Given the description of an element on the screen output the (x, y) to click on. 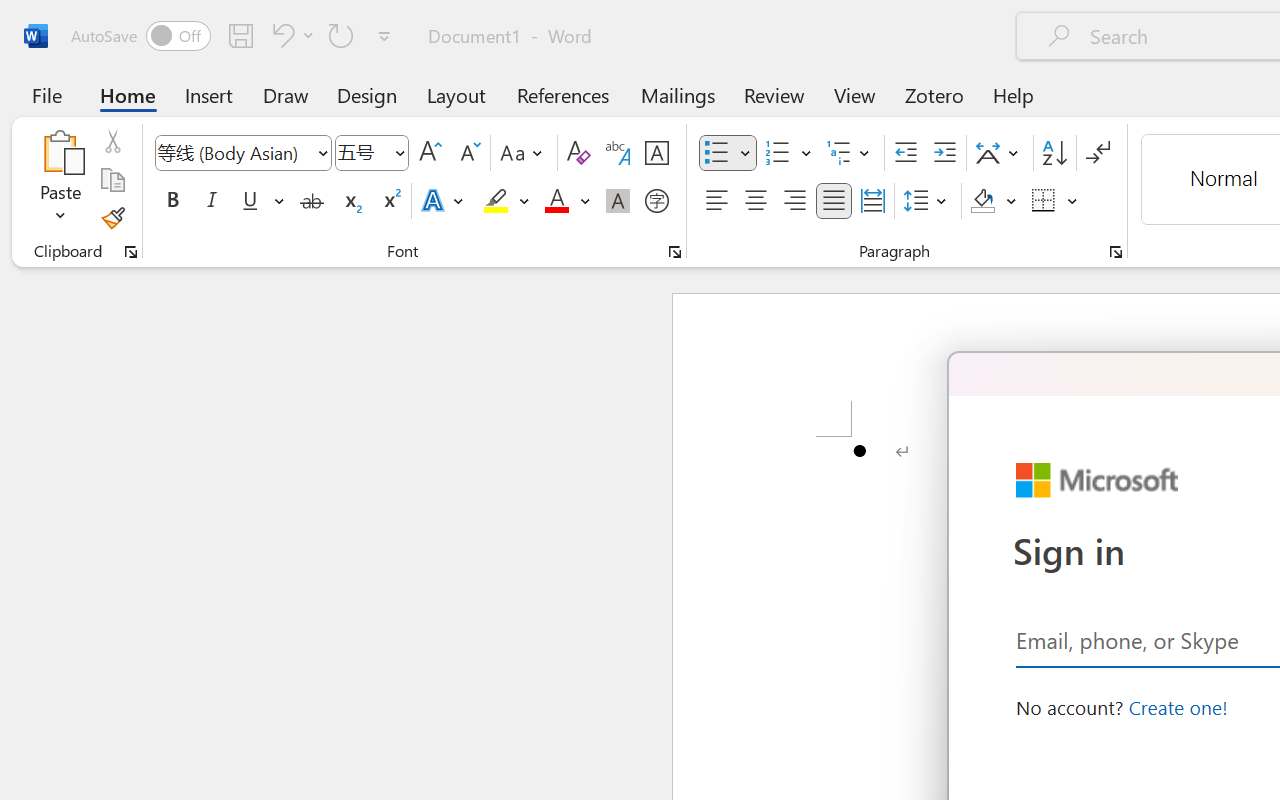
Undo Bullet Default (290, 35)
